Given the description of an element on the screen output the (x, y) to click on. 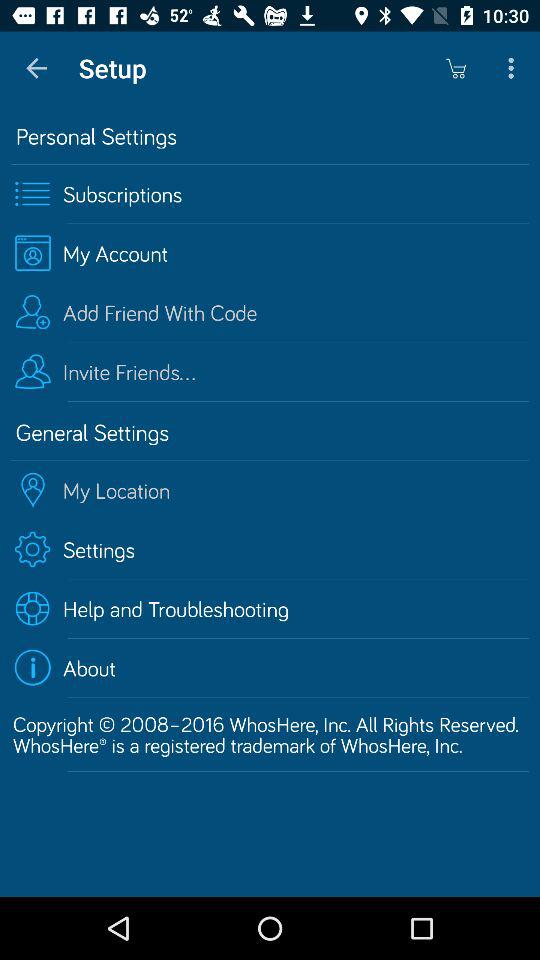
turn on icon to the right of setup app (455, 67)
